Given the description of an element on the screen output the (x, y) to click on. 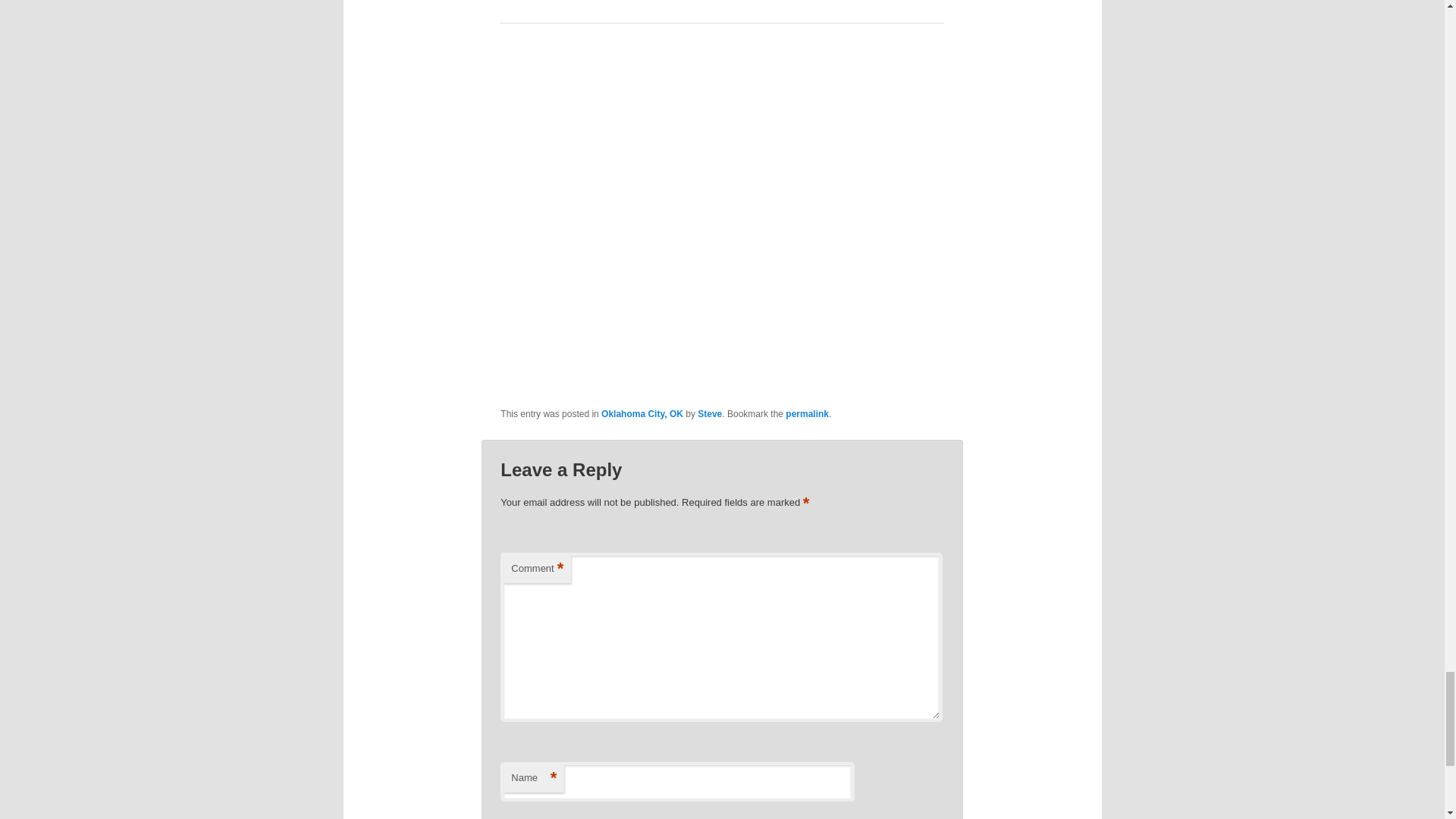
Steve (709, 413)
Oklahoma City, OK (641, 413)
permalink (807, 413)
